Given the description of an element on the screen output the (x, y) to click on. 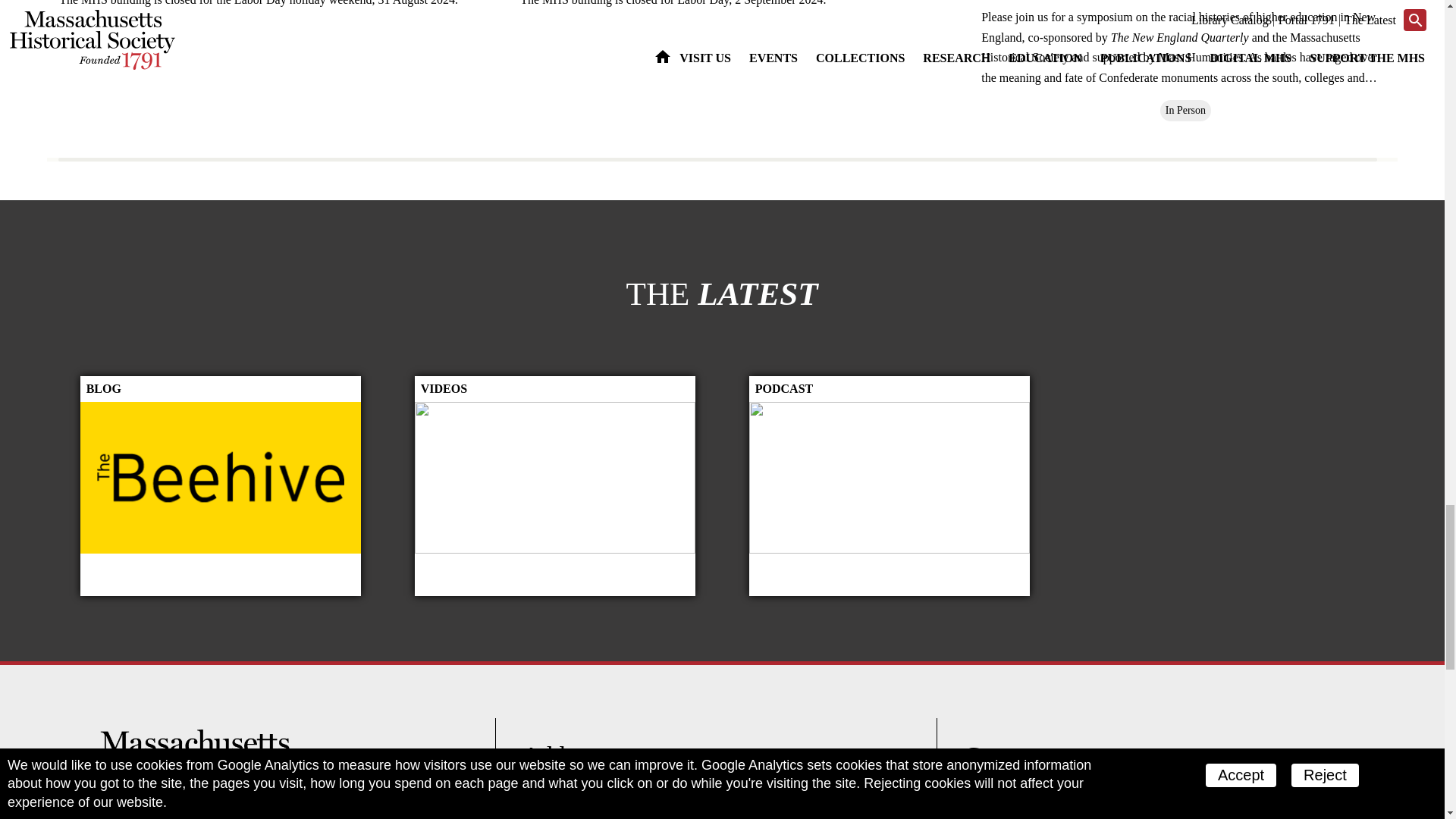
directions (644, 800)
